Given the description of an element on the screen output the (x, y) to click on. 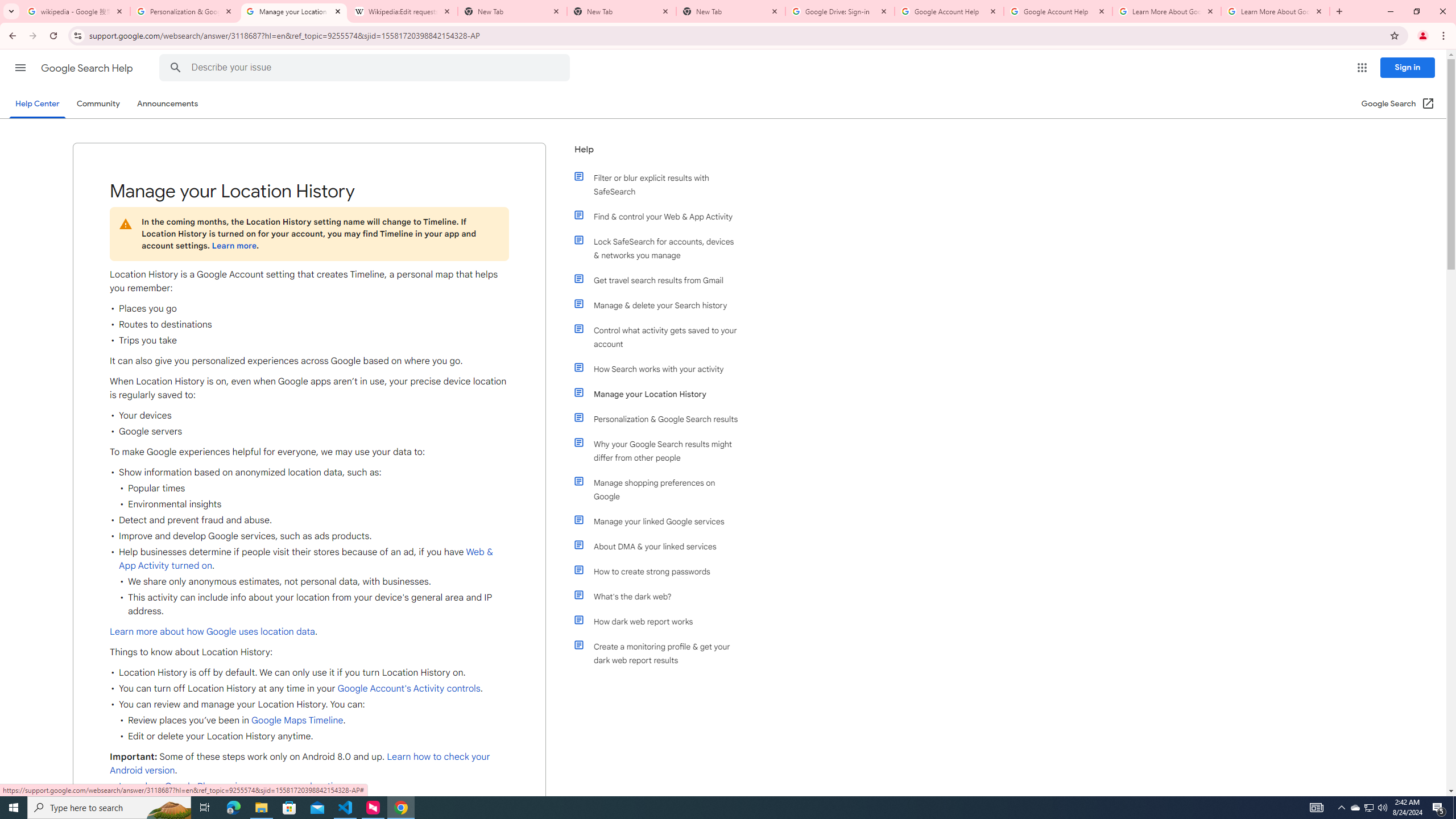
Google Maps Timeline (296, 720)
Lock SafeSearch for accounts, devices & networks you manage (661, 248)
Community (97, 103)
Google Account Help (1058, 11)
Describe your issue (365, 67)
Manage your Location History (661, 394)
